Given the description of an element on the screen output the (x, y) to click on. 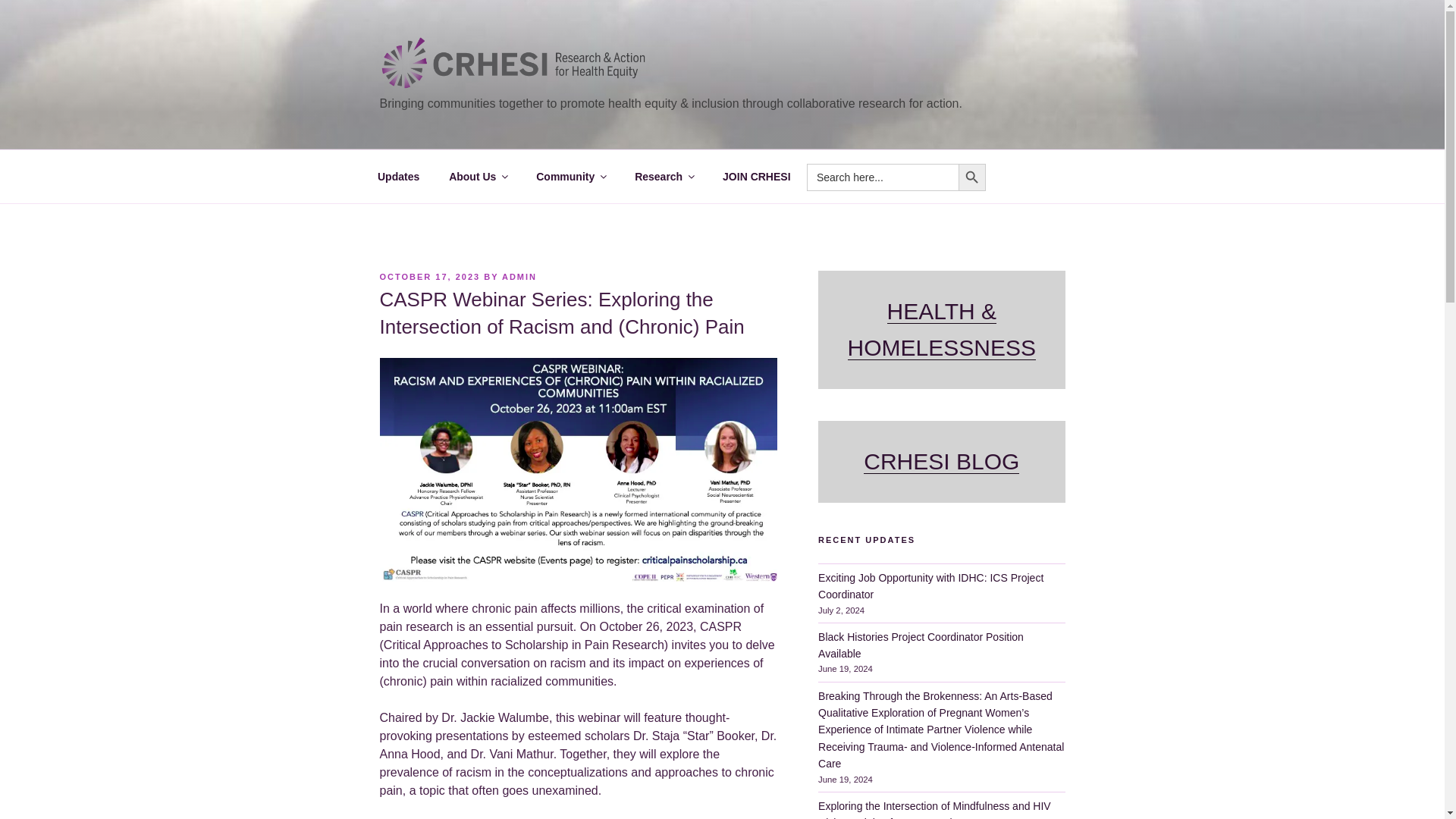
Updates (398, 176)
Community (570, 176)
About Us (477, 176)
